Given the description of an element on the screen output the (x, y) to click on. 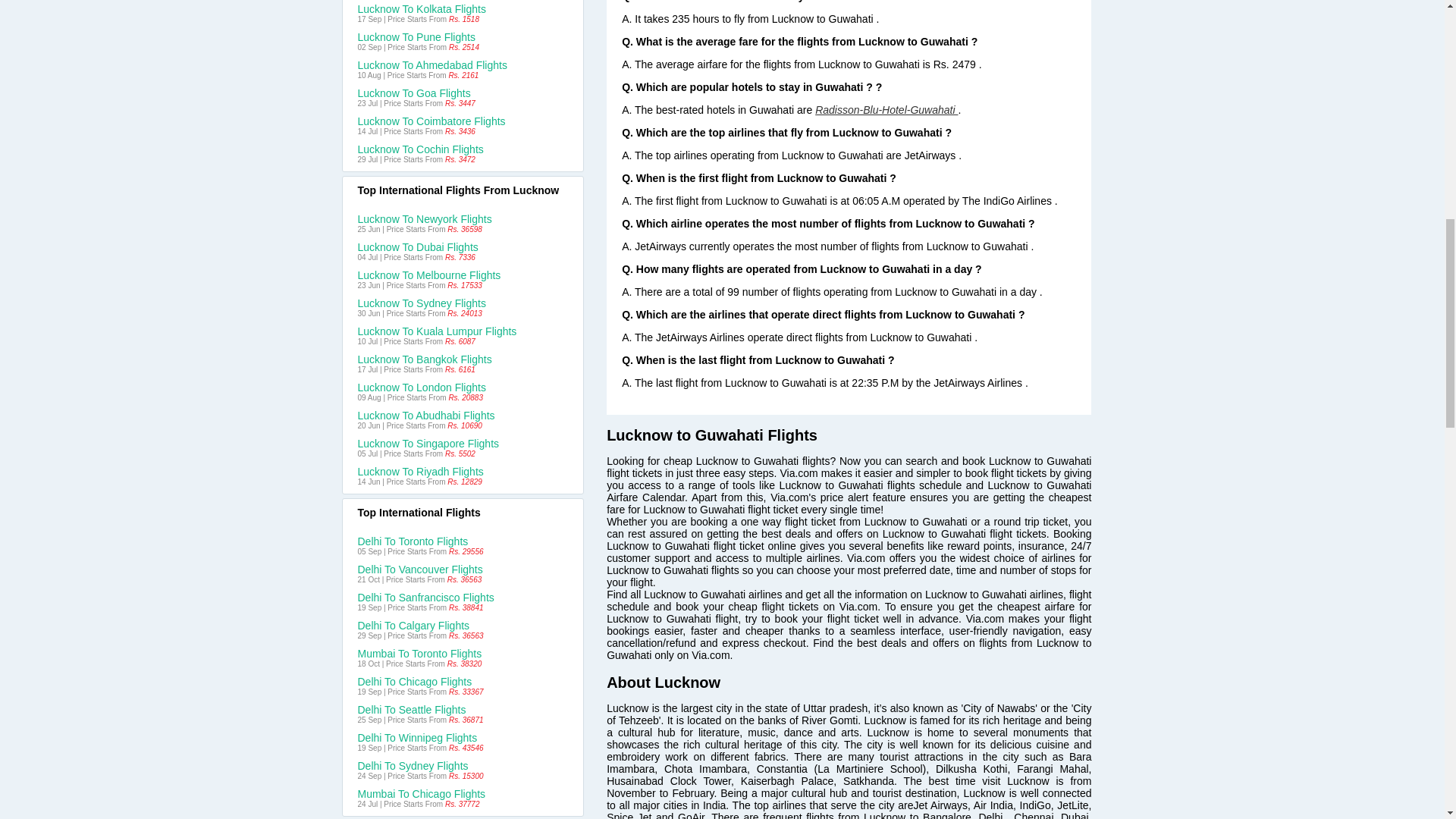
Radisson-Blu-Hotel-Guwahati (886, 110)
